Given the description of an element on the screen output the (x, y) to click on. 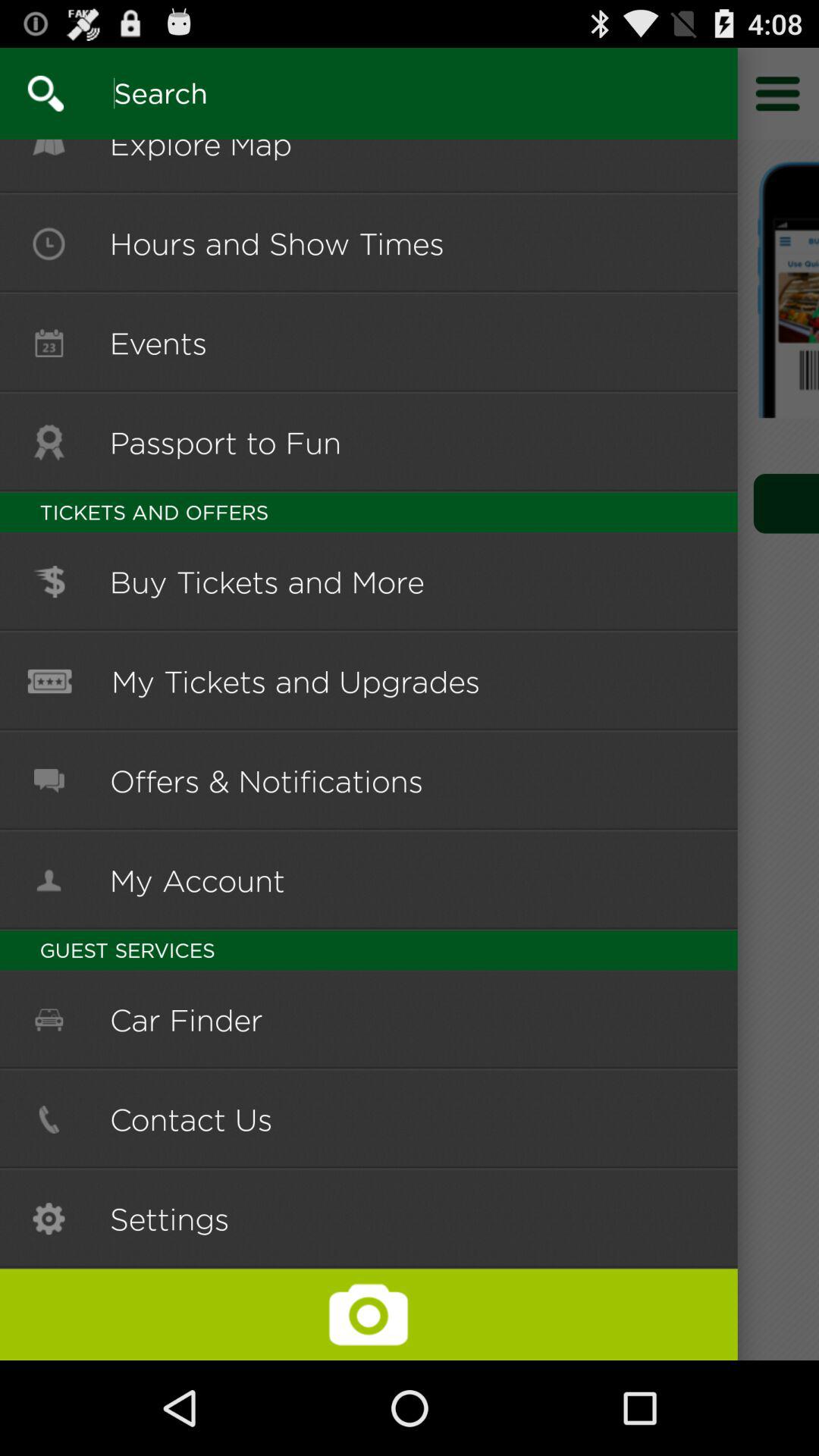
go do seting (778, 93)
